Given the description of an element on the screen output the (x, y) to click on. 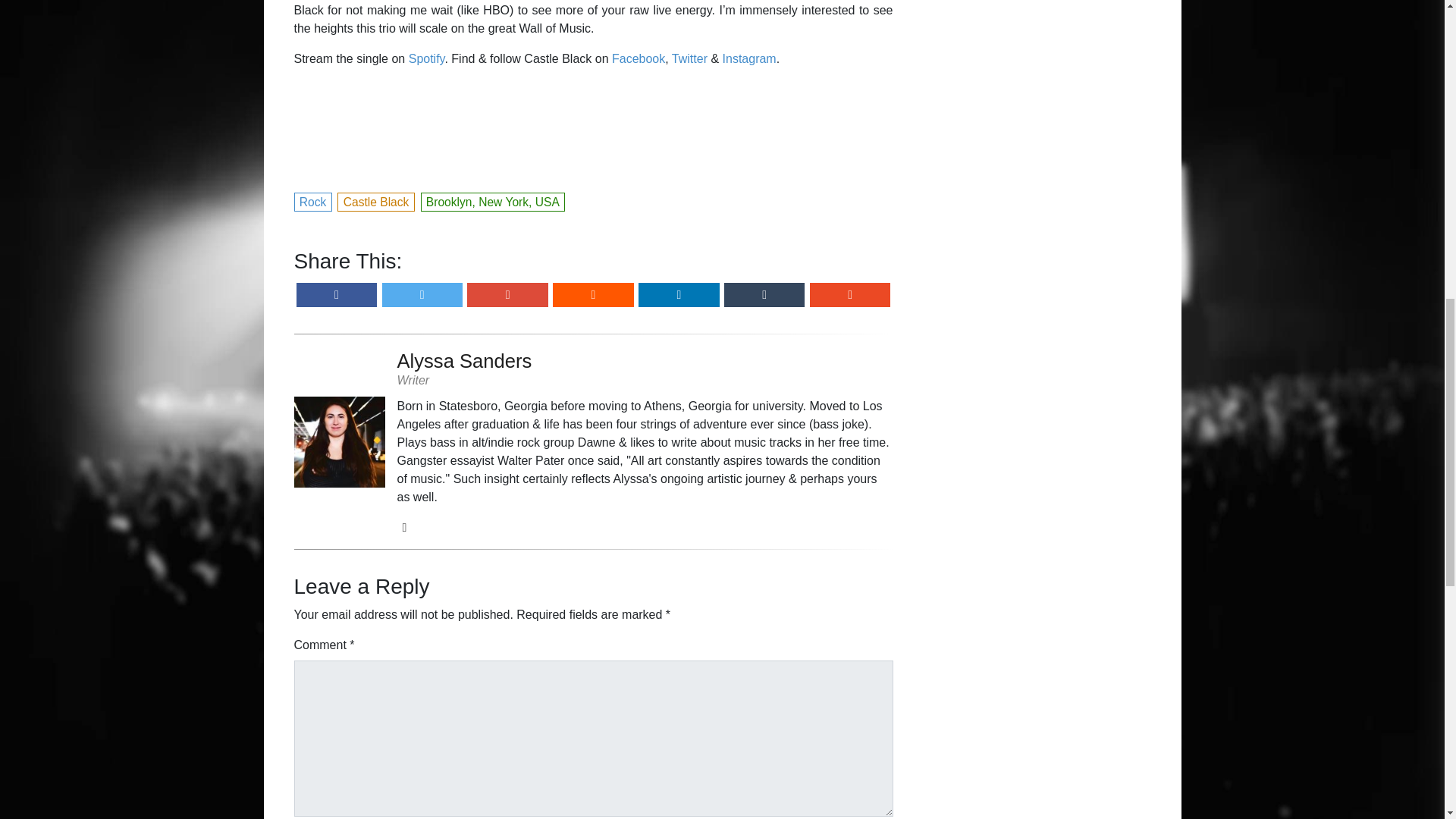
Alyssa Sanders (645, 360)
Castle Black (375, 200)
Spotify (427, 58)
Facebook (638, 58)
Twitter (689, 58)
Brooklyn, New York, USA (493, 200)
Rock (313, 200)
Instagram (749, 58)
